Given the description of an element on the screen output the (x, y) to click on. 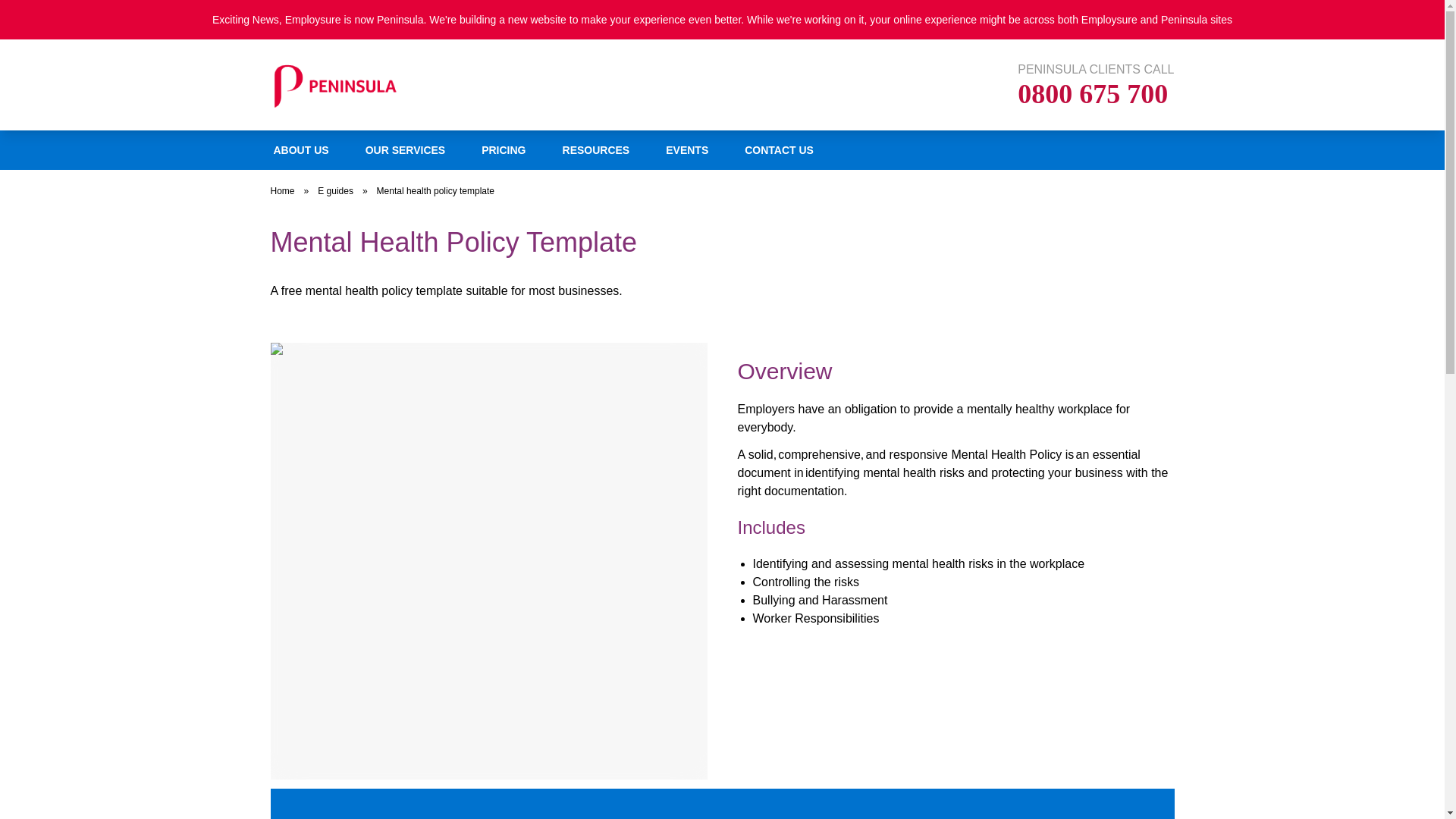
PRICING (502, 149)
